Given the description of an element on the screen output the (x, y) to click on. 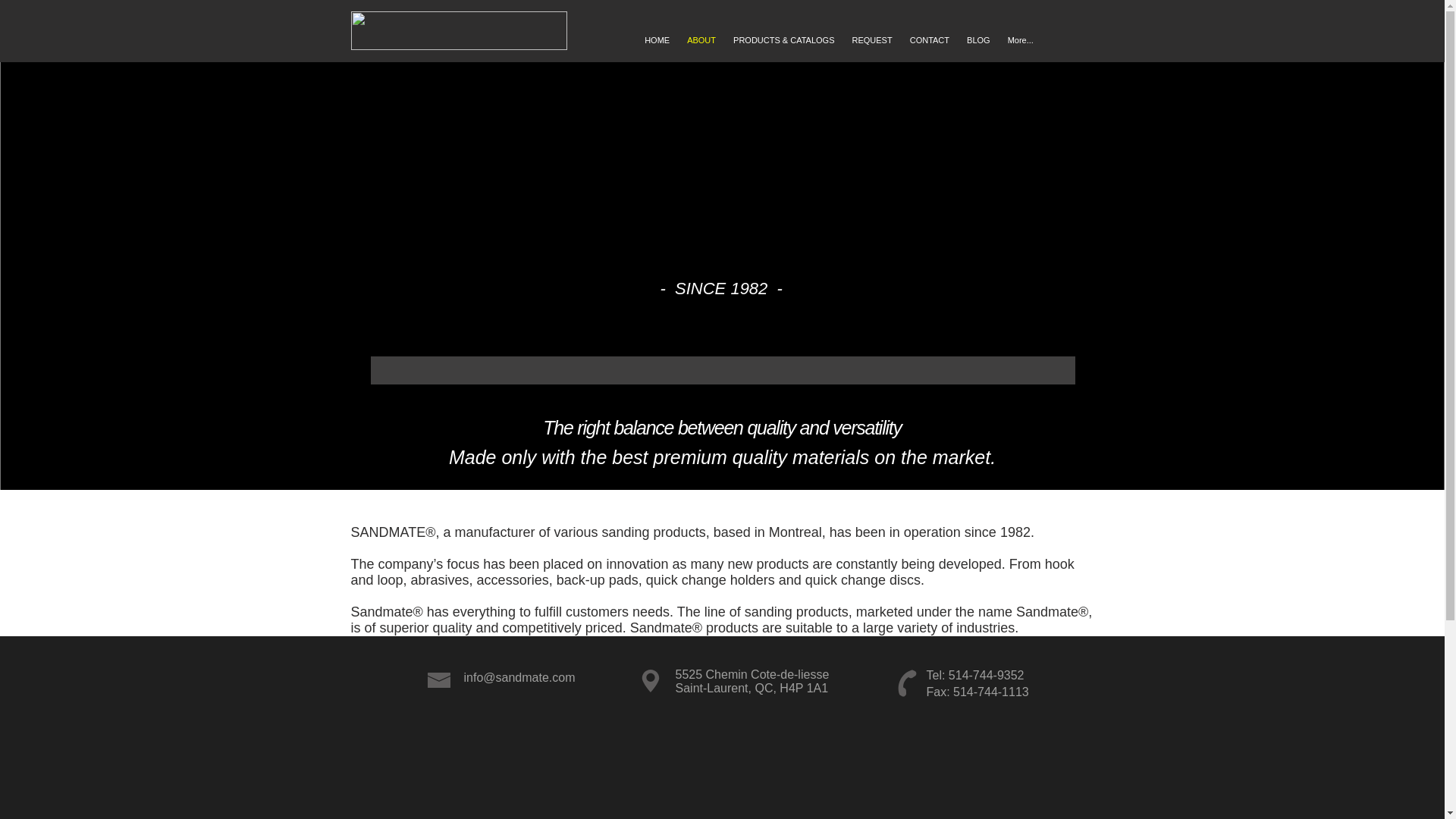
HOME (657, 48)
ABOUT (700, 48)
BLOG (978, 48)
CONTACT (929, 48)
REQUEST (872, 48)
